Given the description of an element on the screen output the (x, y) to click on. 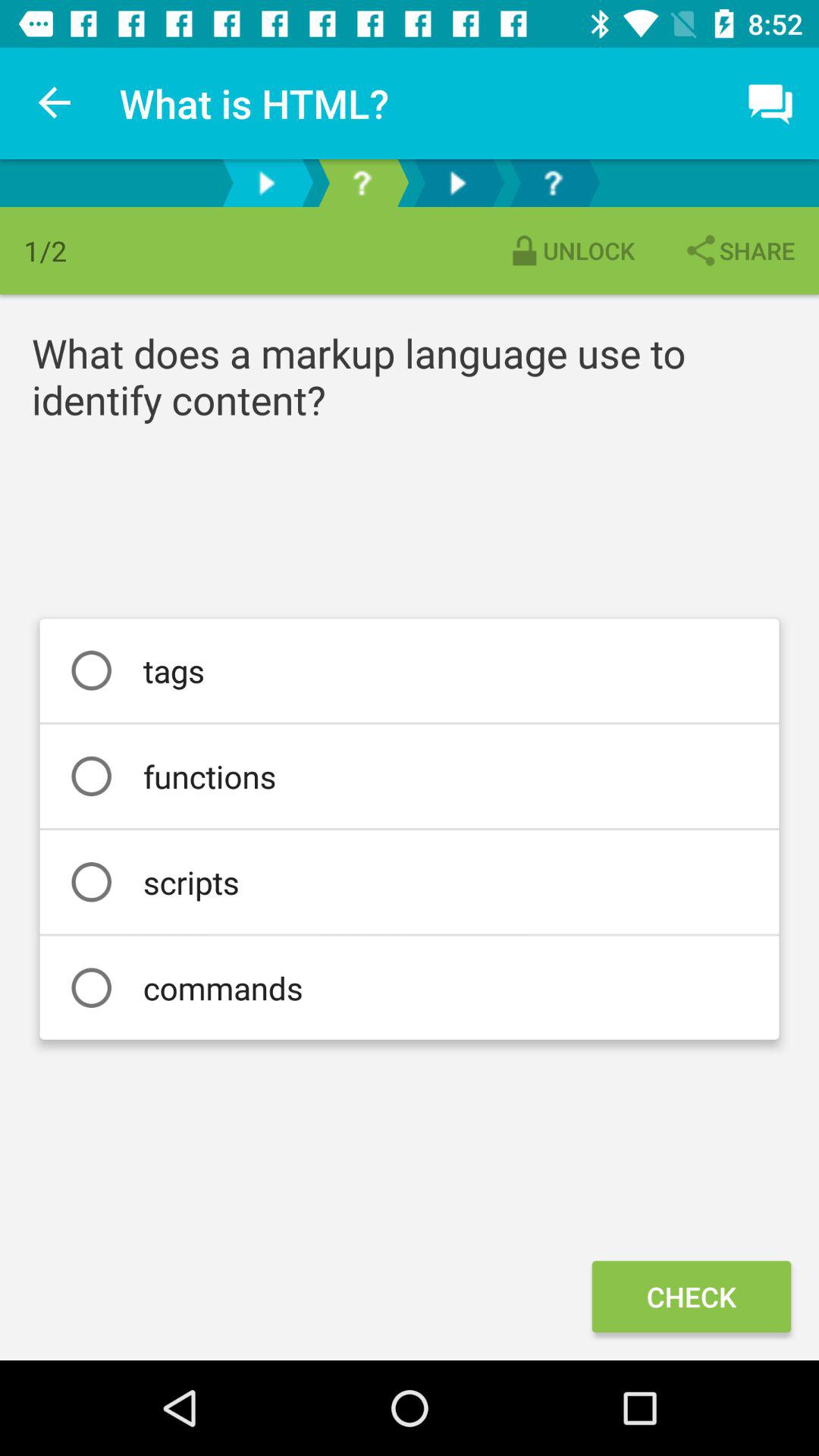
select item above the what does a (738, 250)
